Given the description of an element on the screen output the (x, y) to click on. 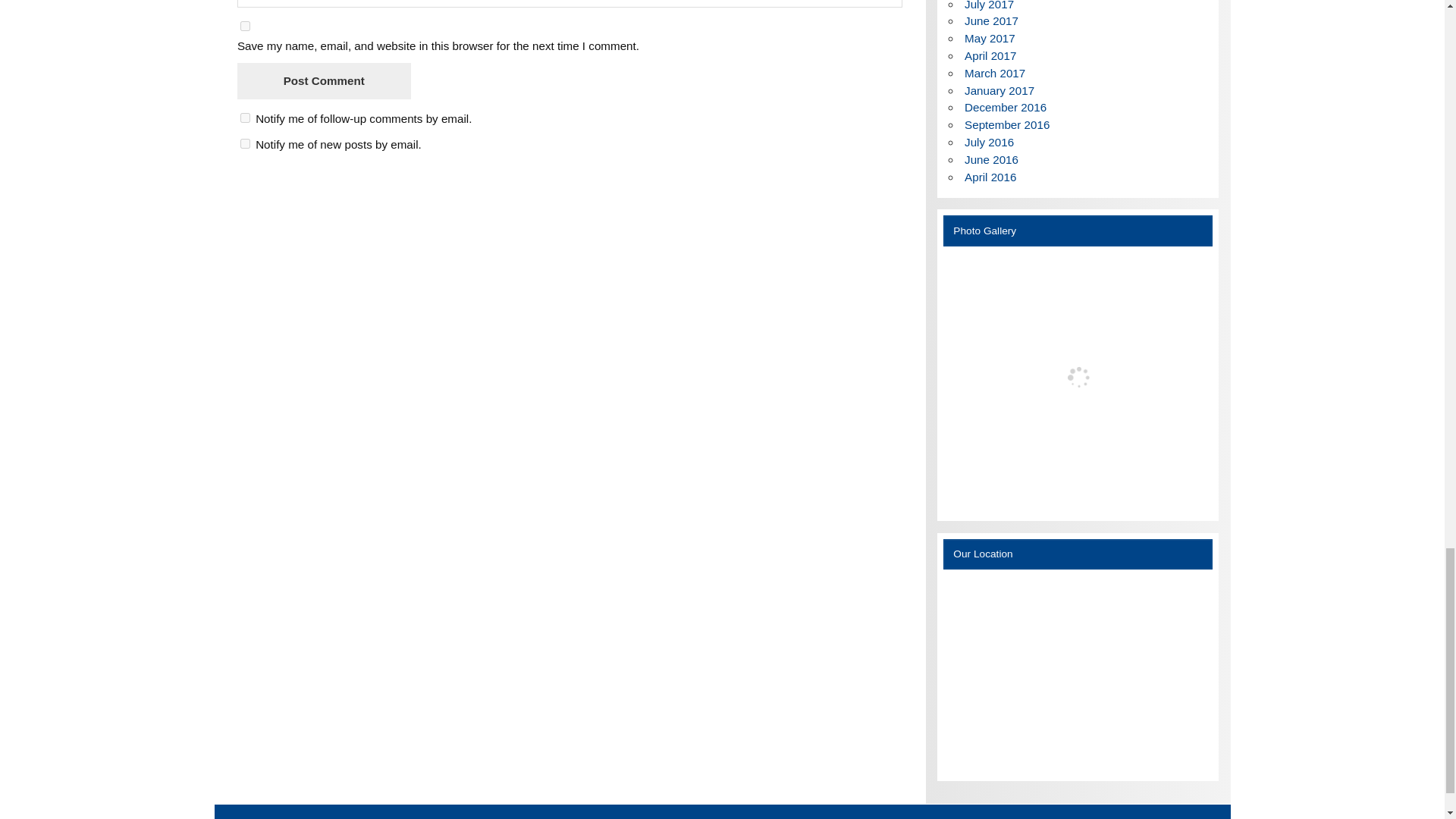
Post Comment (323, 80)
subscribe (245, 143)
subscribe (245, 117)
yes (245, 26)
Post Comment (323, 80)
